Given the description of an element on the screen output the (x, y) to click on. 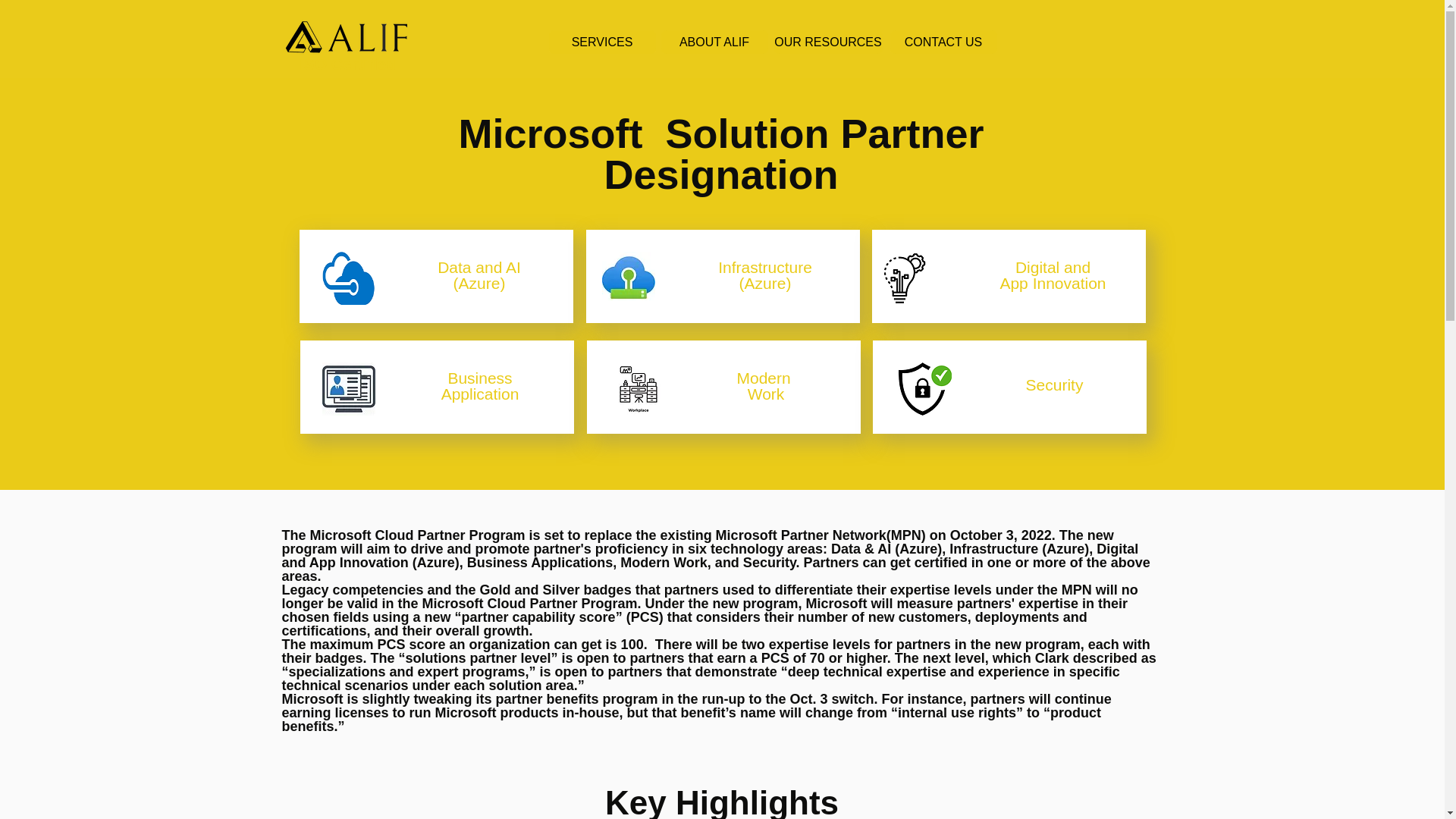
SERVICES (602, 42)
CONTACT US (943, 42)
ABOUT ALIF (714, 42)
OUR RESOURCES (827, 42)
